Given the description of an element on the screen output the (x, y) to click on. 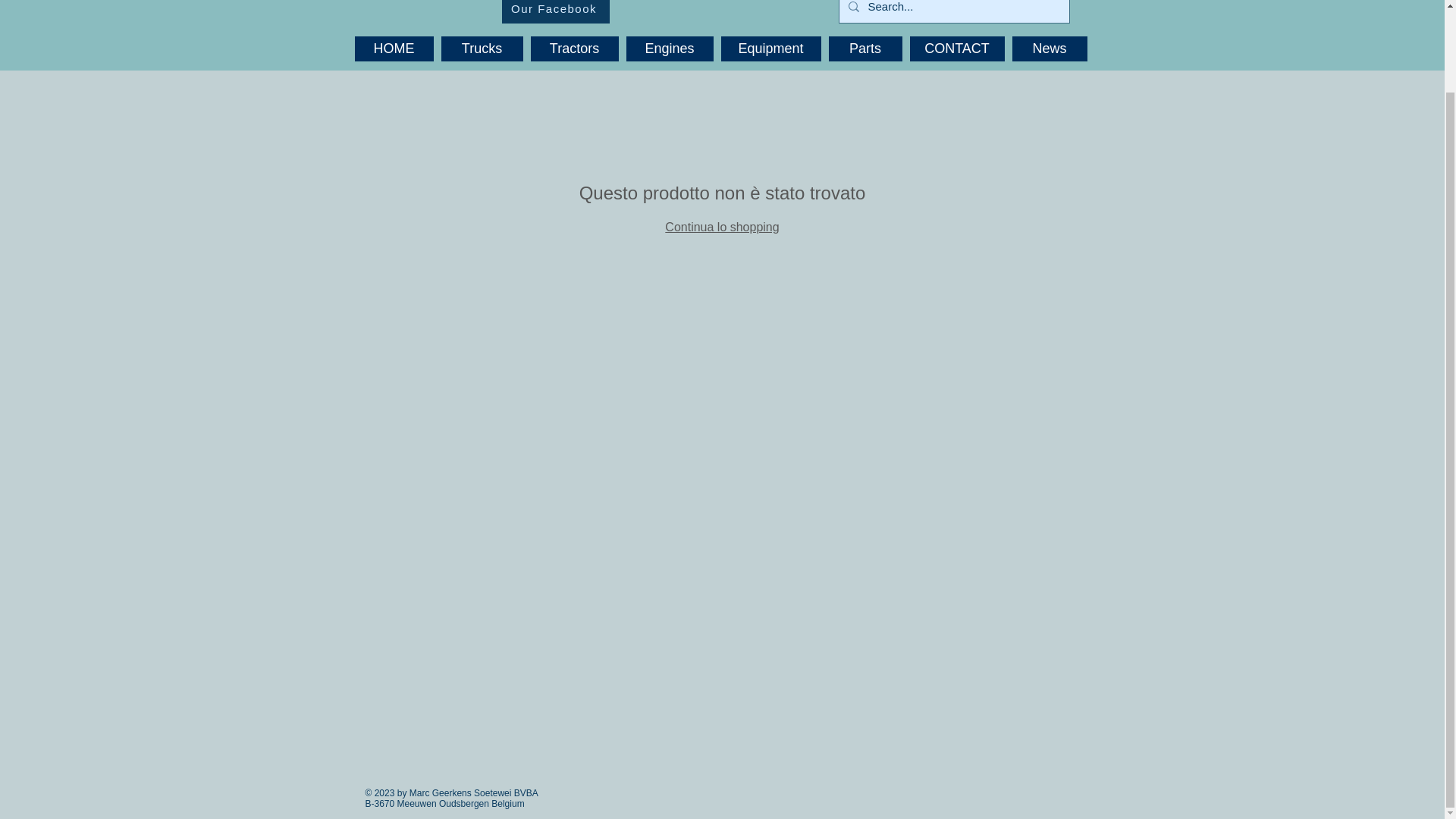
Engines (669, 48)
Trucks (481, 48)
Parts (864, 48)
Equipment (770, 48)
Our Facebook (556, 11)
HOME (394, 48)
CONTACT (957, 48)
News (1048, 48)
Continua lo shopping (721, 226)
